Given the description of an element on the screen output the (x, y) to click on. 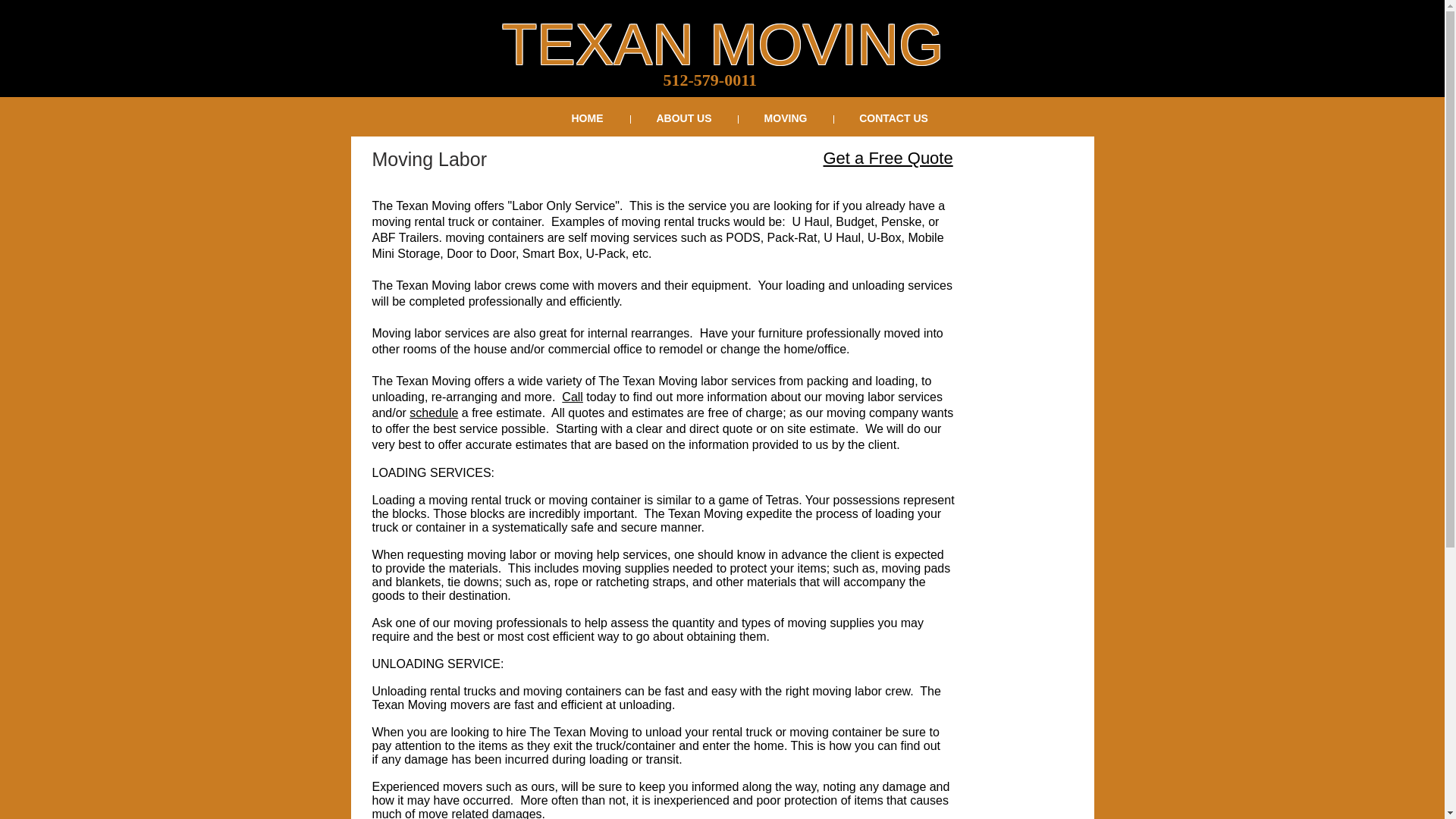
Get a Free Quote (888, 157)
Call (572, 396)
schedule (433, 412)
HOME (586, 116)
CONTACT US (892, 116)
ABOUT US (682, 116)
Embedded Content (451, 259)
